Given the description of an element on the screen output the (x, y) to click on. 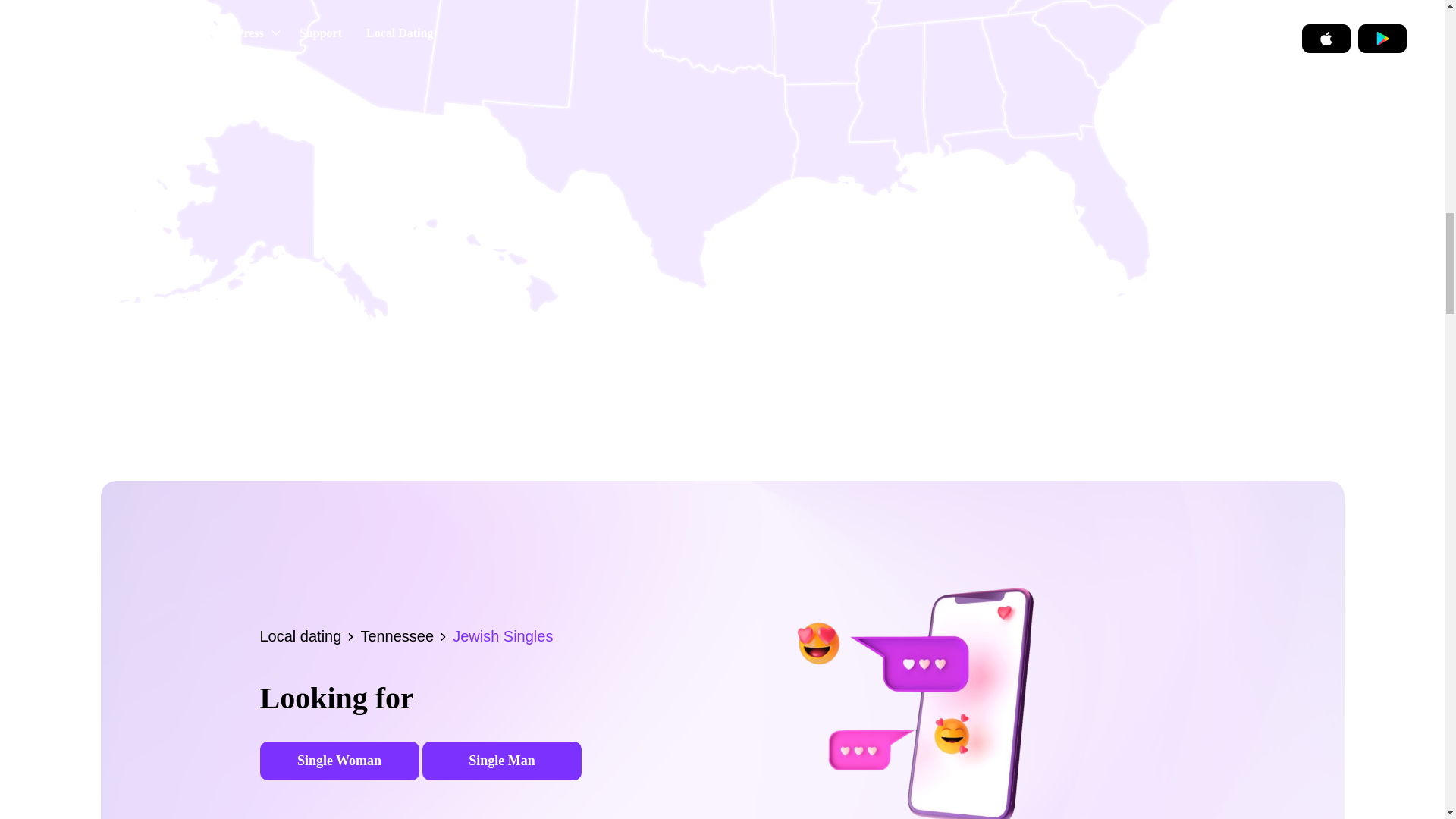
Single Woman (339, 761)
Single Man (501, 761)
Tennessee (405, 636)
Local dating (309, 636)
